Given the description of an element on the screen output the (x, y) to click on. 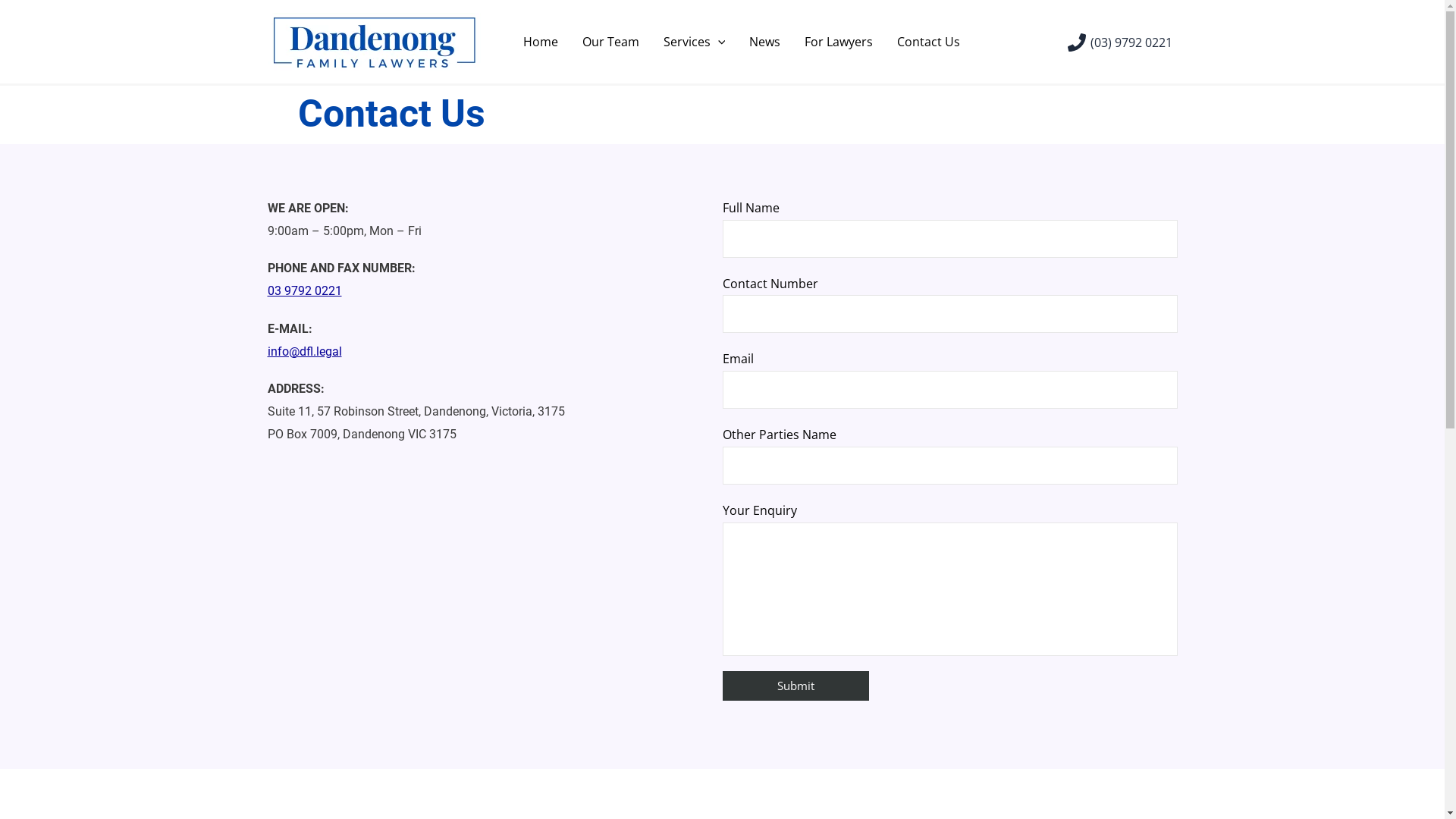
Services Element type: text (693, 41)
(03) 9792 0221 Element type: text (1120, 42)
Contact Us Element type: text (928, 41)
Home Element type: text (540, 41)
Our Team Element type: text (610, 41)
For Lawyers Element type: text (838, 41)
03 9792 0221 Element type: text (303, 290)
Submit Element type: text (794, 685)
News Element type: text (764, 41)
info@dfl.legal Element type: text (303, 351)
